Given the description of an element on the screen output the (x, y) to click on. 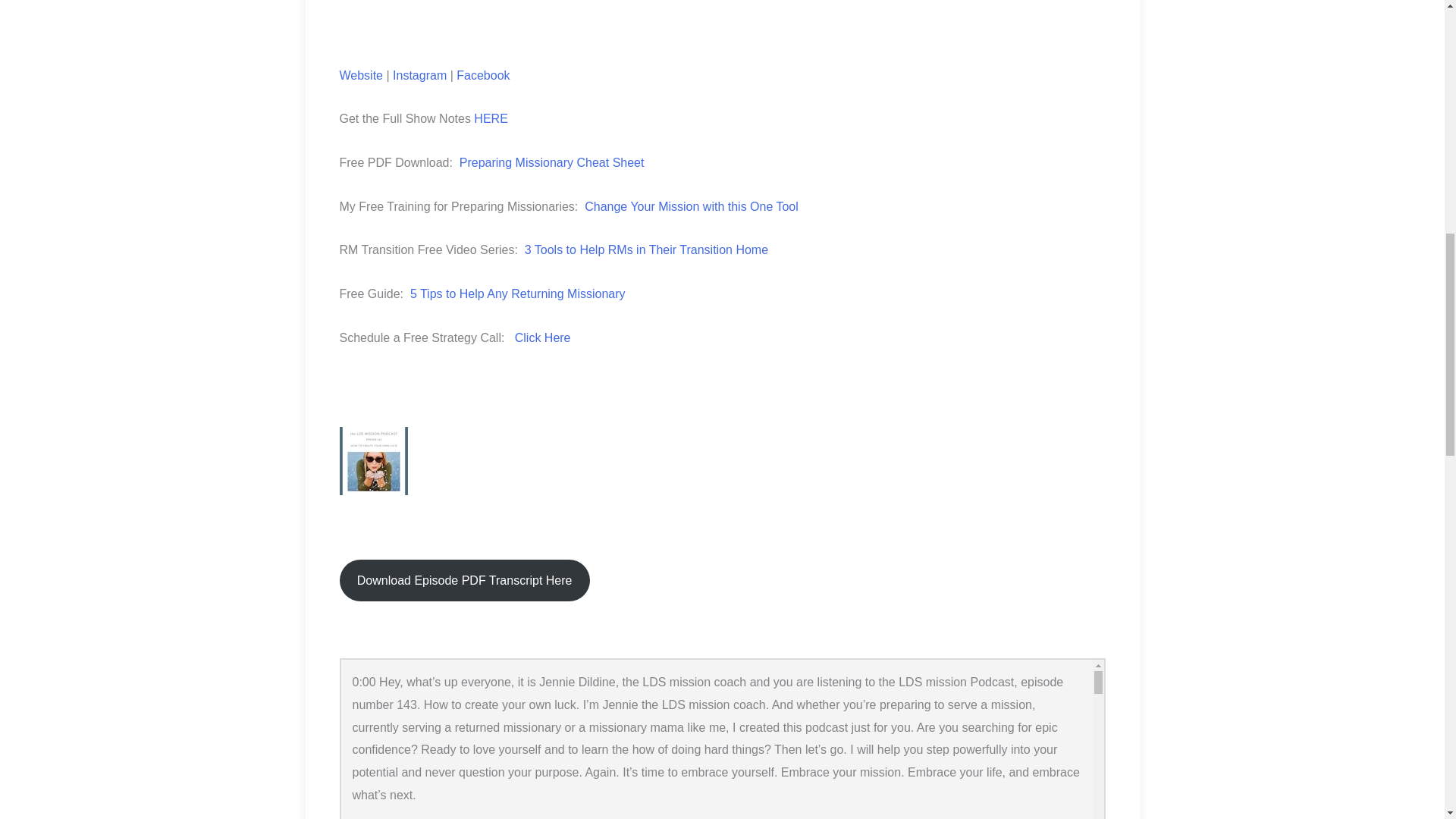
Instagram (418, 74)
 Click Here (540, 337)
Website (361, 74)
Download Episode PDF Transcript Here (464, 580)
Change Your Mission with this One Tool (691, 205)
Facebook (481, 74)
HERE (490, 118)
3 Tools to Help RMs in Their Transition Home (646, 249)
Preparing Missionary Cheat Sheet (552, 162)
 5 Tips to Help Any Returning Missionary (515, 293)
